Given the description of an element on the screen output the (x, y) to click on. 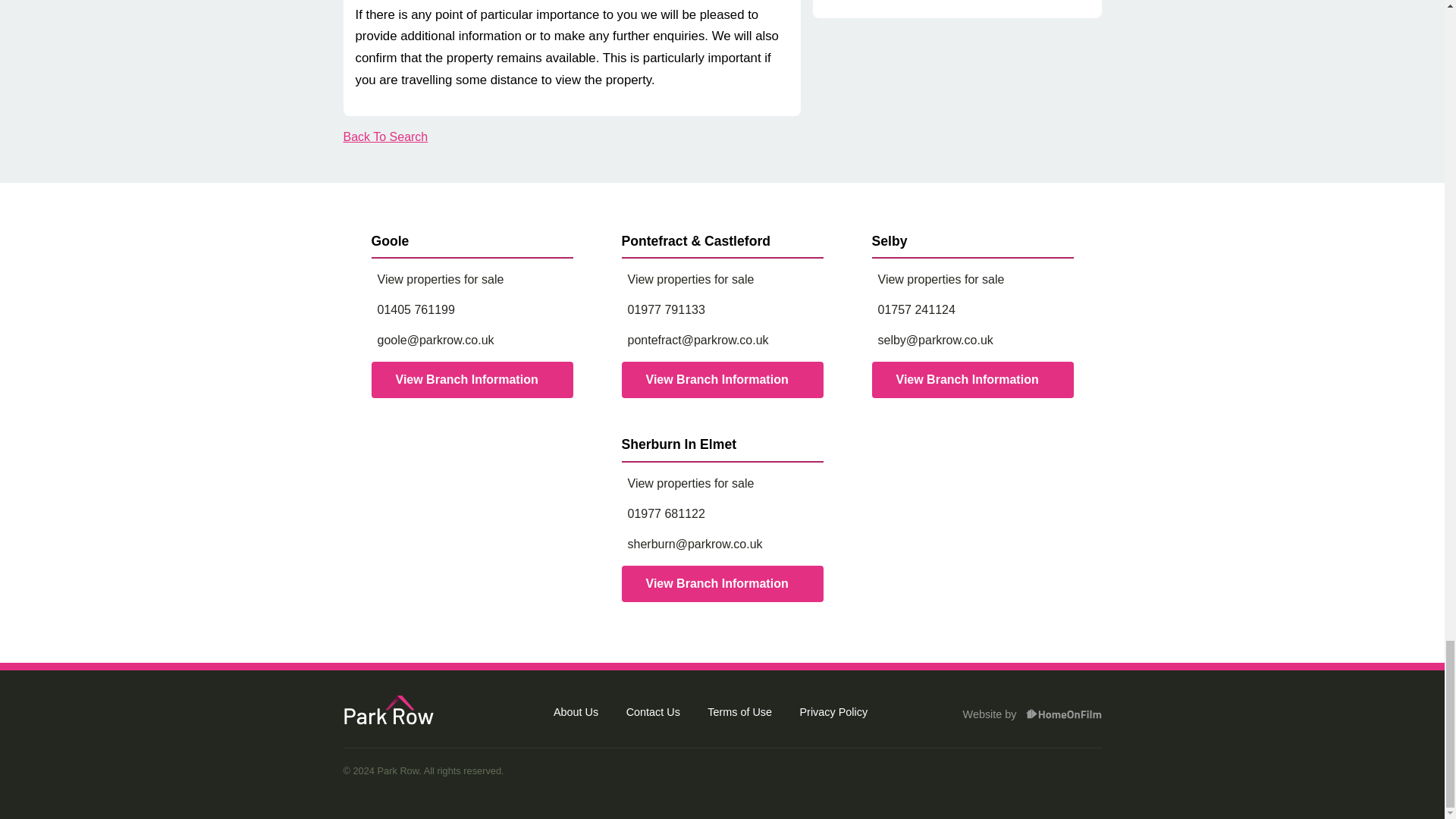
Email the Goole branch (472, 340)
Call the Goole branch (472, 310)
01405 761199 (472, 310)
Call the Goole branch (472, 379)
View properties for sale (472, 280)
Back To Search (385, 136)
